Given the description of an element on the screen output the (x, y) to click on. 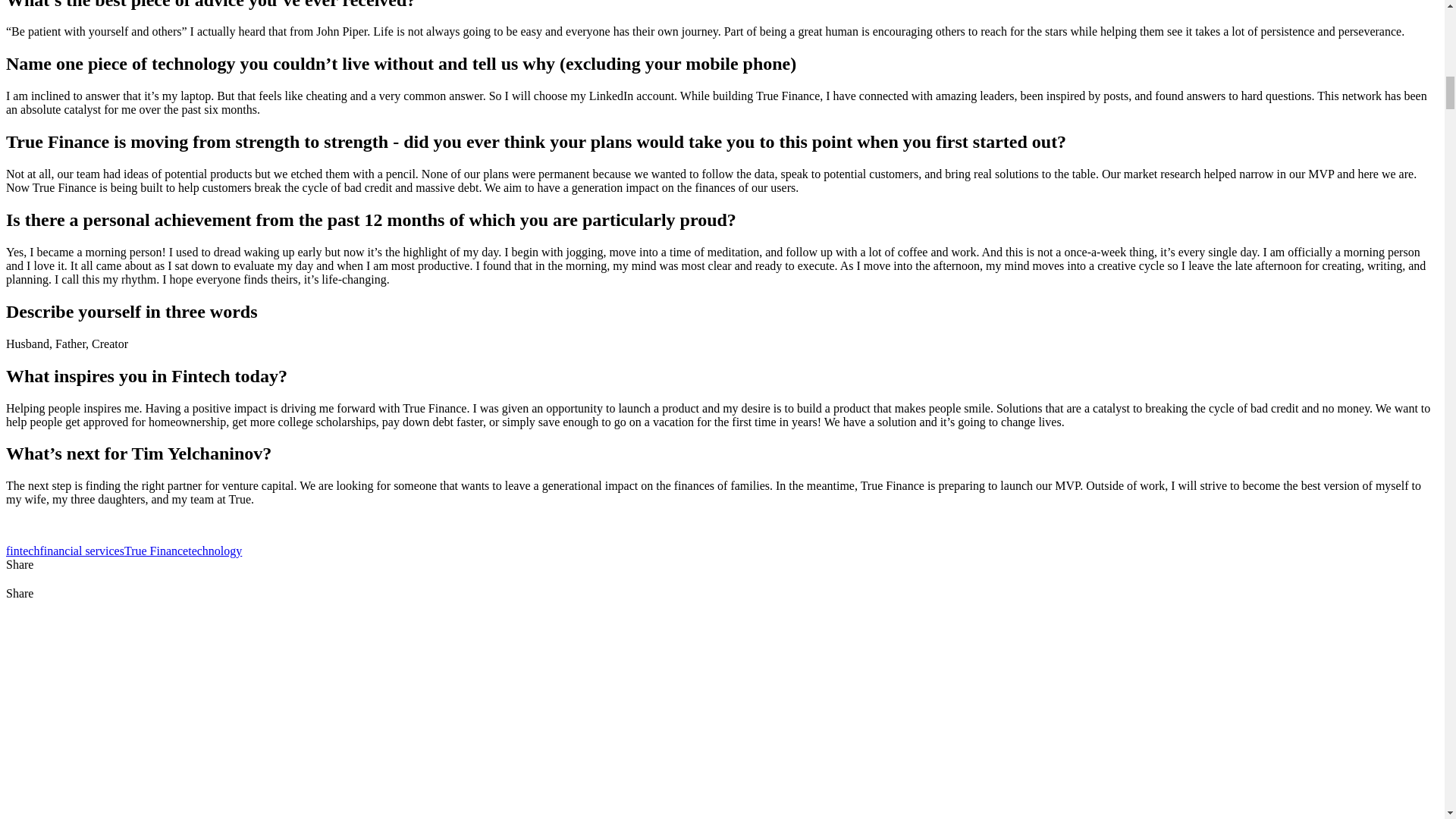
technology (214, 550)
fintech (22, 550)
financial services (81, 550)
True Finance (155, 550)
